Given the description of an element on the screen output the (x, y) to click on. 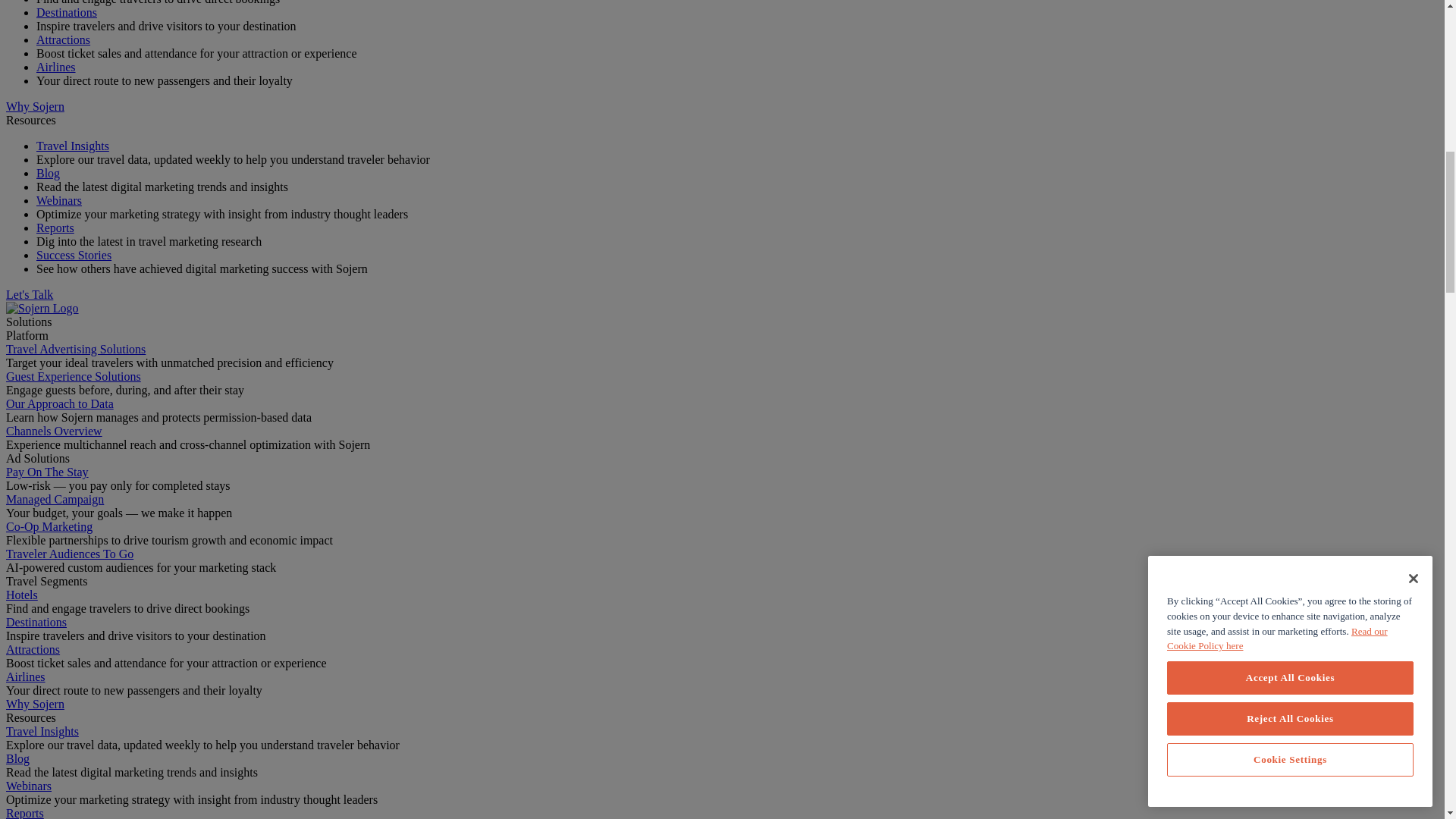
Success Stories (74, 254)
Destinations (66, 11)
Reports (55, 227)
Attractions (63, 39)
Travel Insights (72, 145)
Webinars (58, 200)
Airlines (55, 66)
Blog (47, 173)
